Given the description of an element on the screen output the (x, y) to click on. 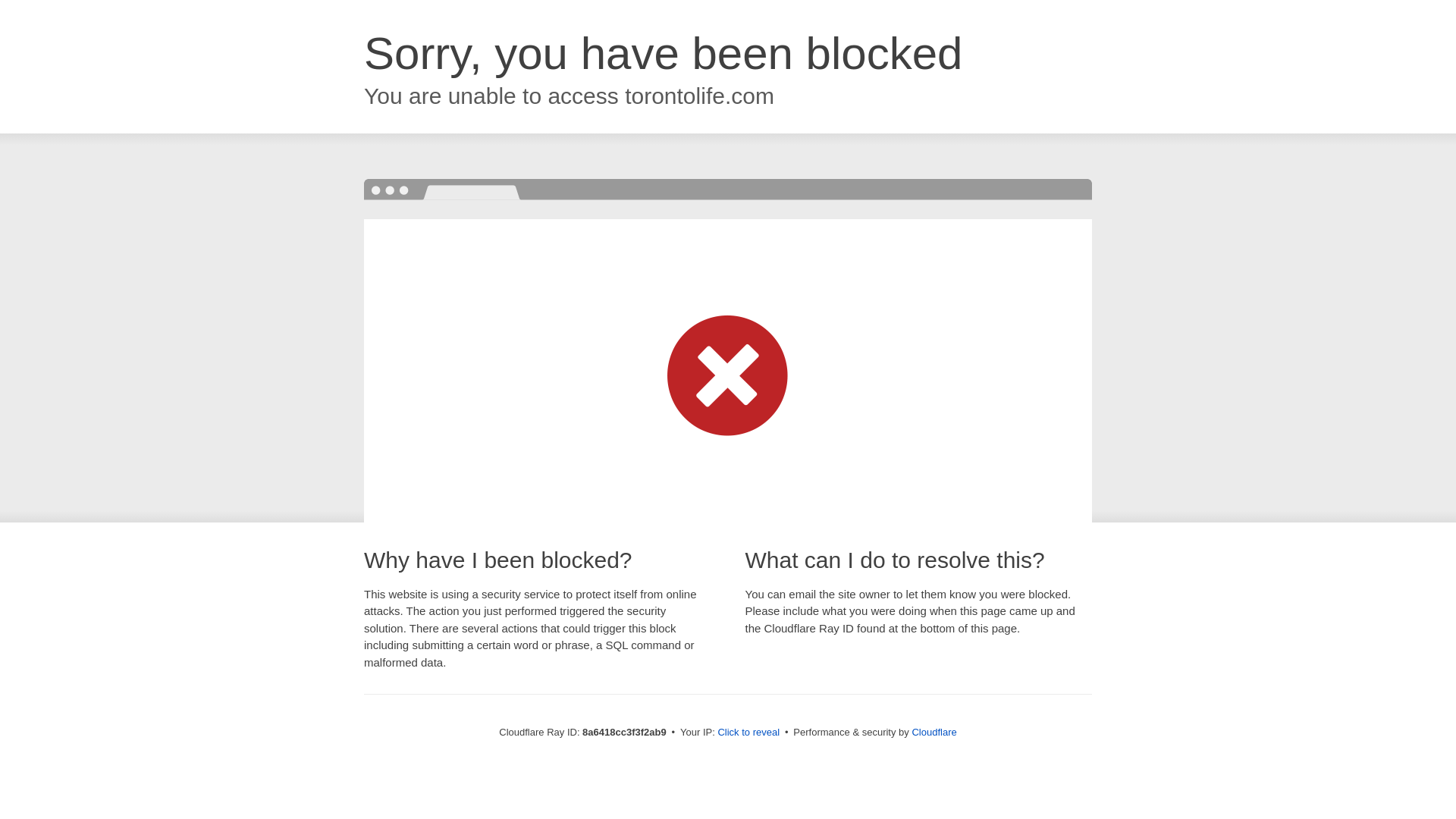
Click to reveal (747, 732)
Cloudflare (933, 731)
